Given the description of an element on the screen output the (x, y) to click on. 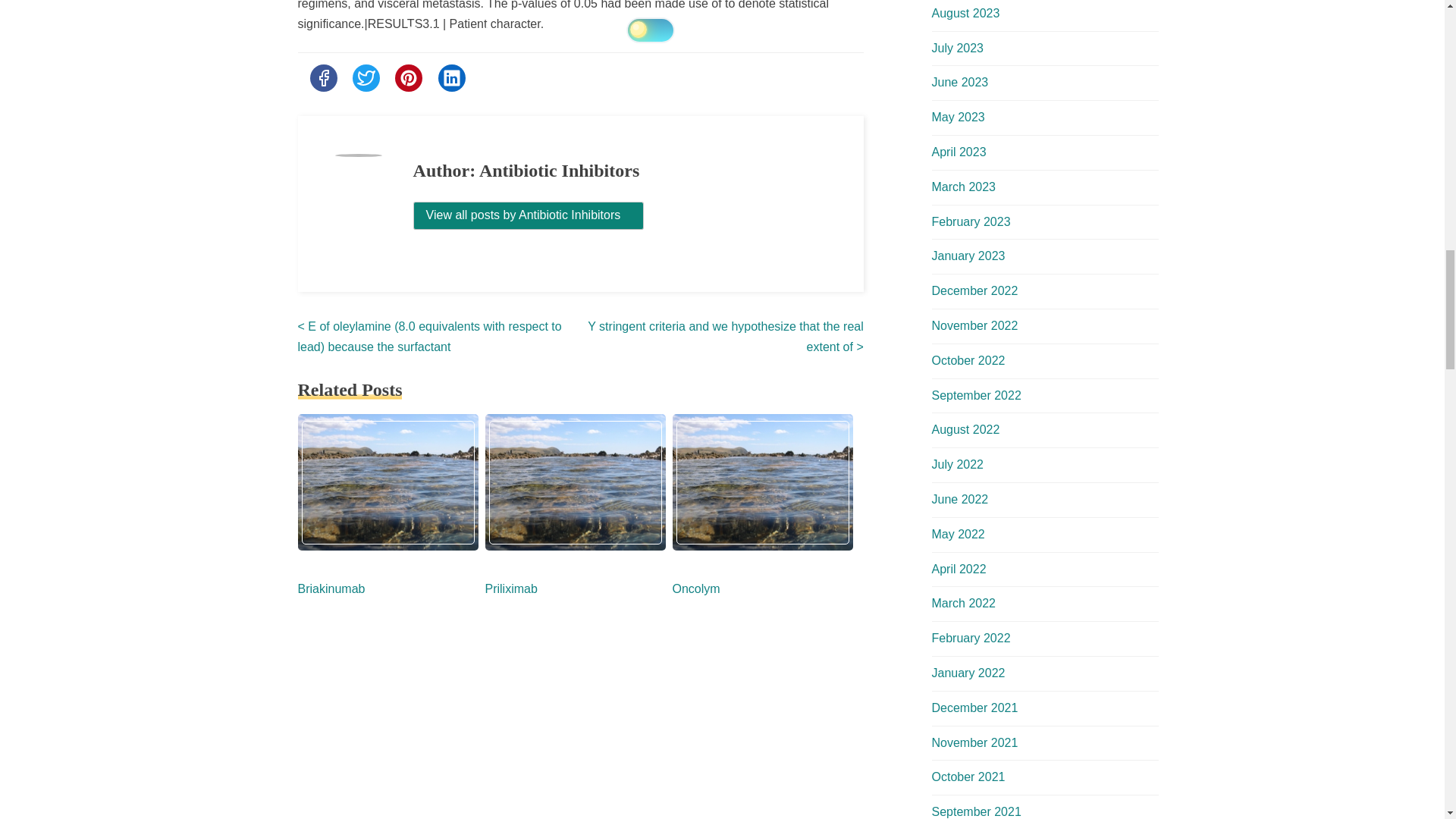
Briakinumab (331, 588)
View all posts by Antibiotic Inhibitors (528, 214)
Priliximab (510, 588)
Oncolym (695, 588)
View all posts by Antibiotic Inhibitors (529, 215)
Share this post on Linkedin (451, 77)
Share this post on Twitter (366, 77)
Share this post on Pinterest (408, 77)
Share this post on Facebook (322, 77)
